Given the description of an element on the screen output the (x, y) to click on. 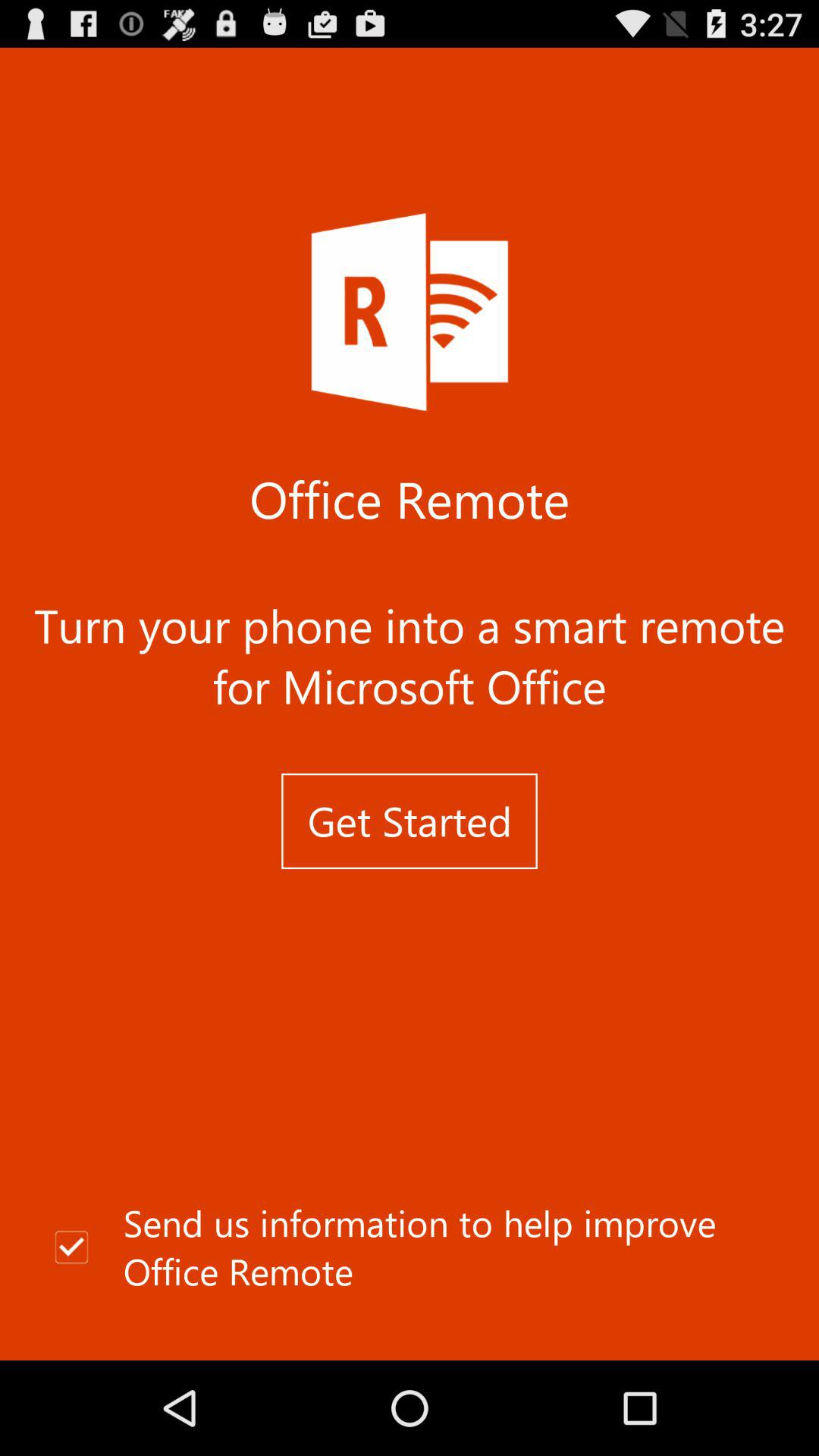
tap the get started item (409, 821)
